Given the description of an element on the screen output the (x, y) to click on. 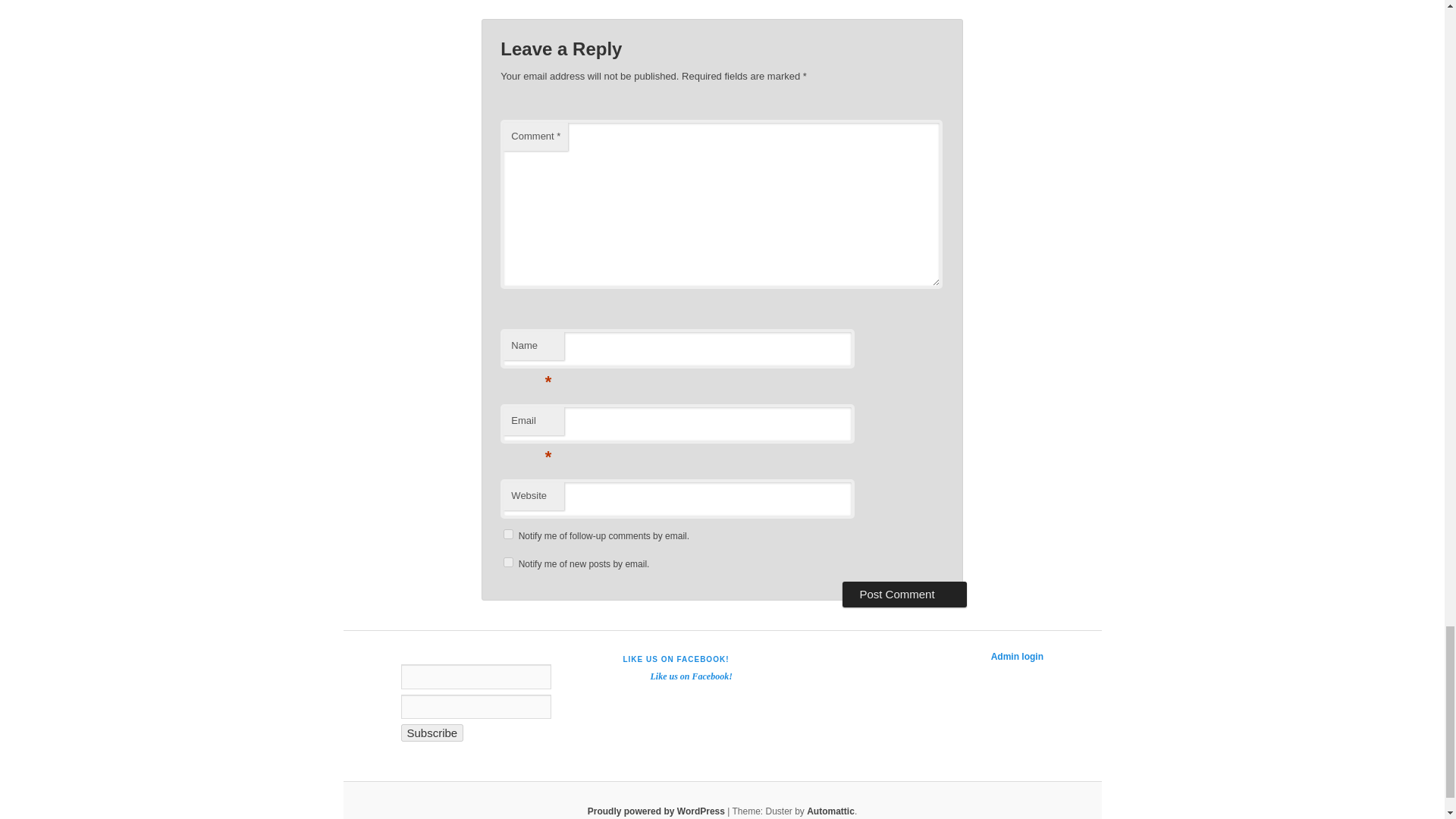
Subscribe (431, 732)
Subscribe (431, 732)
Proudly powered by WordPress (656, 810)
Like us on Facebook! (690, 675)
subscribe (508, 562)
A Semantic Personal Publishing Platform (656, 810)
Admin login (1017, 656)
Automattic (830, 810)
Post Comment (904, 594)
LIKE US ON FACEBOOK! (676, 659)
